Given the description of an element on the screen output the (x, y) to click on. 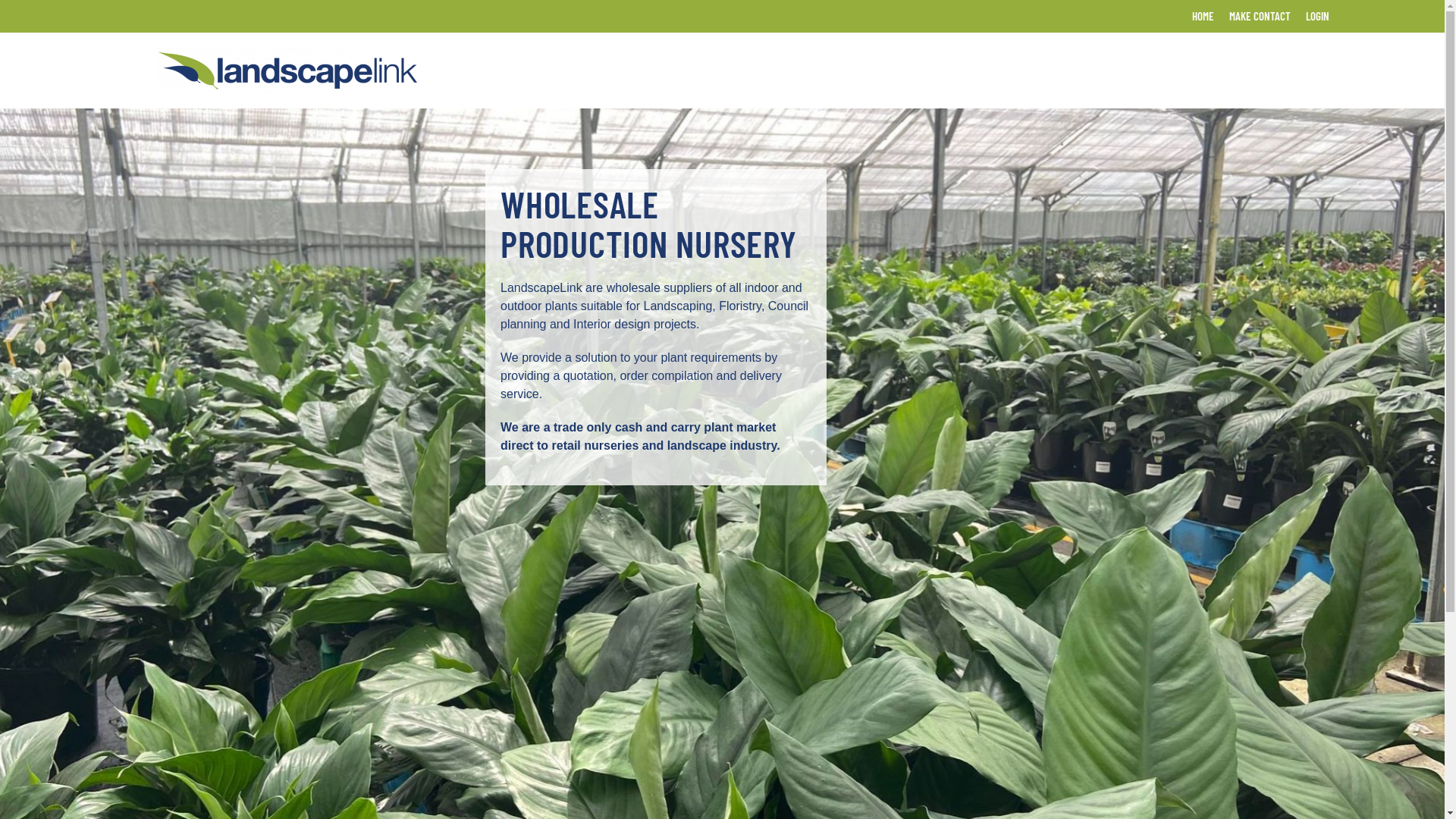
HOME Element type: text (1203, 16)
LOGIN Element type: text (1317, 16)
MAKE CONTACT Element type: text (1258, 16)
